Given the description of an element on the screen output the (x, y) to click on. 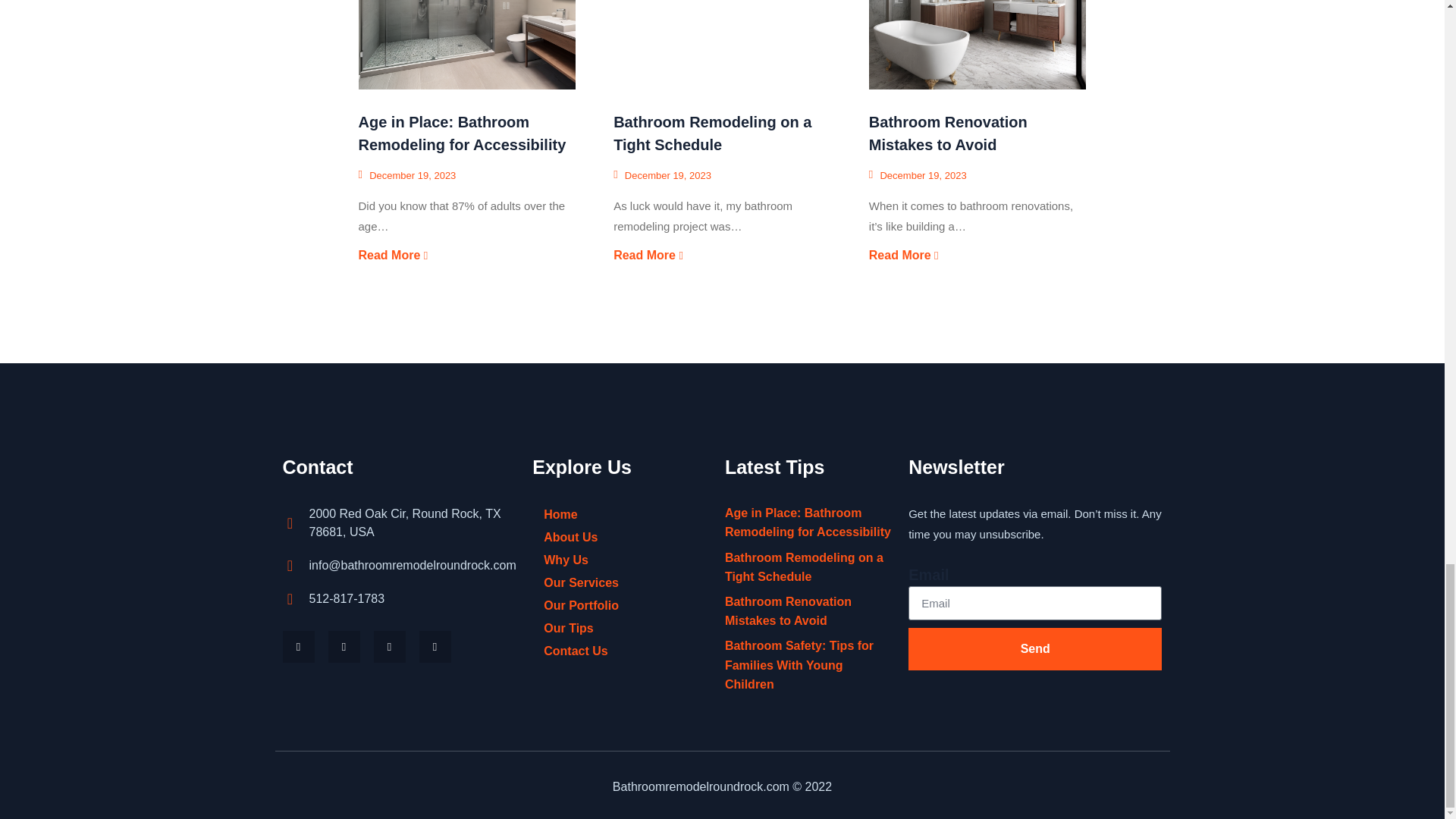
Read More (393, 255)
Read More (647, 255)
Bathroom Remodeling on a Tight Schedule (711, 133)
About Us (621, 537)
Why Us (621, 559)
Age in Place: Bathroom Remodeling for Accessibility (462, 133)
Home (621, 514)
Bathroom Renovation Mistakes to Avoid (948, 133)
Bathroom Renovation Mistakes to Avoid (977, 44)
Bathroom Remodeling on a Tight Schedule (721, 44)
